Given the description of an element on the screen output the (x, y) to click on. 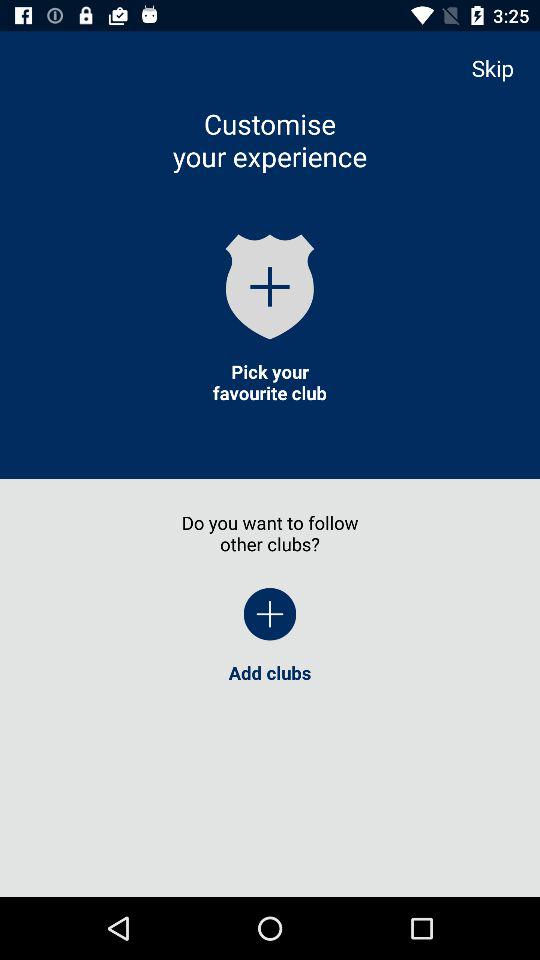
turn on the item above the do you want (269, 382)
